Given the description of an element on the screen output the (x, y) to click on. 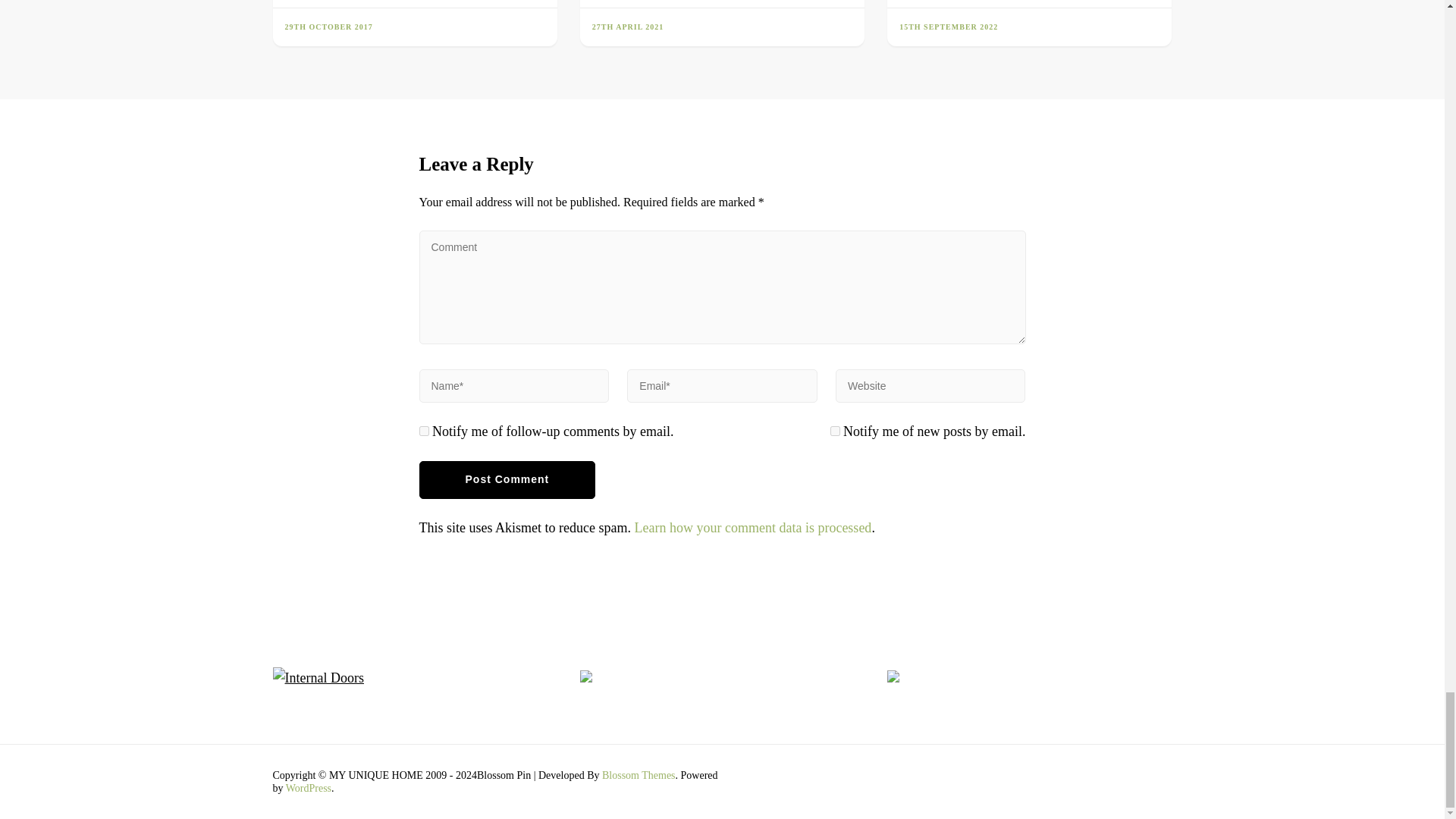
subscribe (834, 430)
Post Comment (507, 479)
subscribe (423, 430)
